Given the description of an element on the screen output the (x, y) to click on. 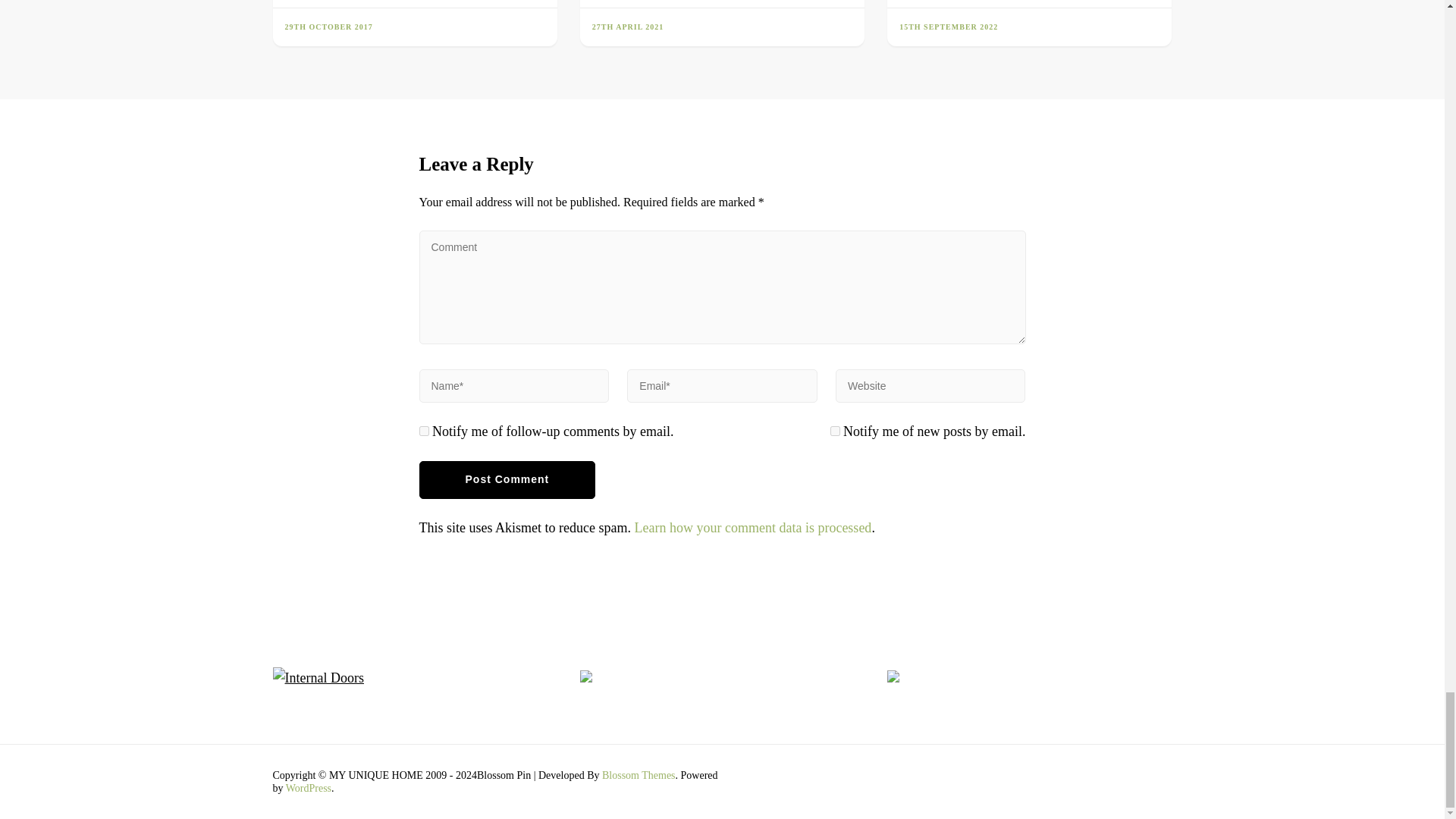
subscribe (834, 430)
Post Comment (507, 479)
subscribe (423, 430)
